Given the description of an element on the screen output the (x, y) to click on. 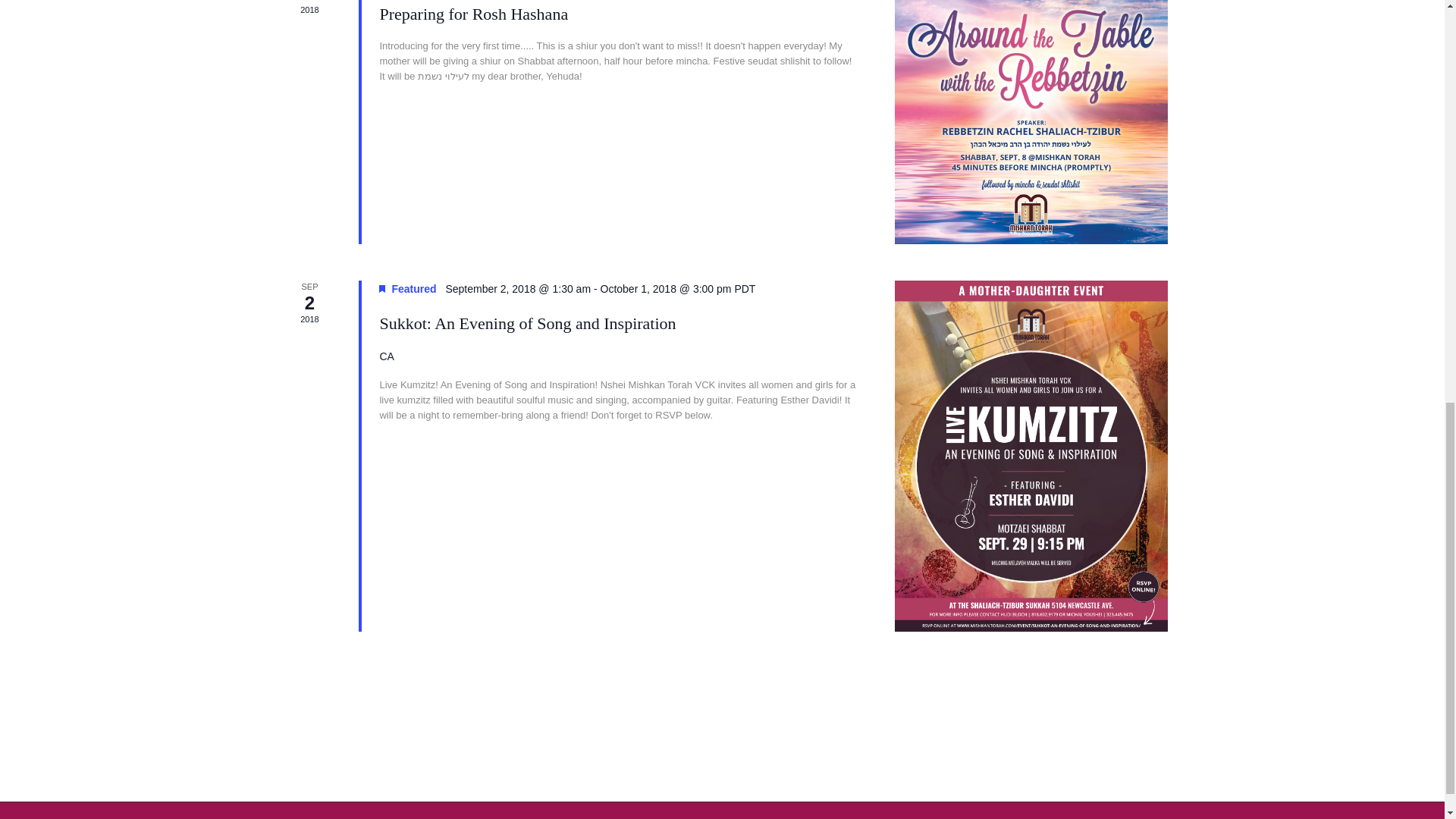
Preparing for Rosh Hashana (472, 14)
Preparing for Rosh Hashana (1031, 122)
Sukkot: An Evening of Song and Inspiration (526, 323)
Sukkot: An Evening of Song and Inspiration (1031, 455)
Preparing for Rosh Hashana (472, 14)
Featured (381, 288)
